Given the description of an element on the screen output the (x, y) to click on. 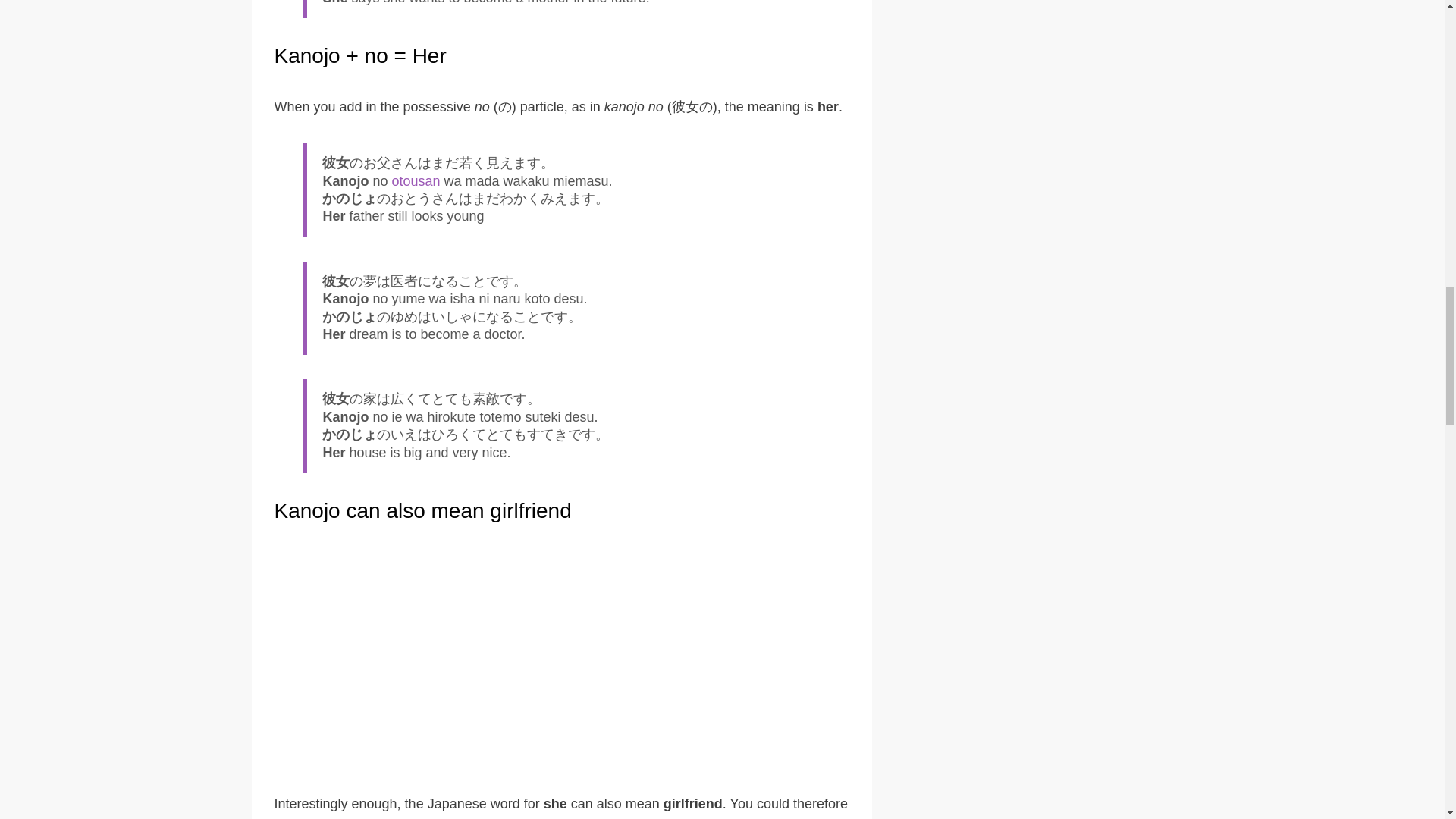
otousan (413, 181)
